Given the description of an element on the screen output the (x, y) to click on. 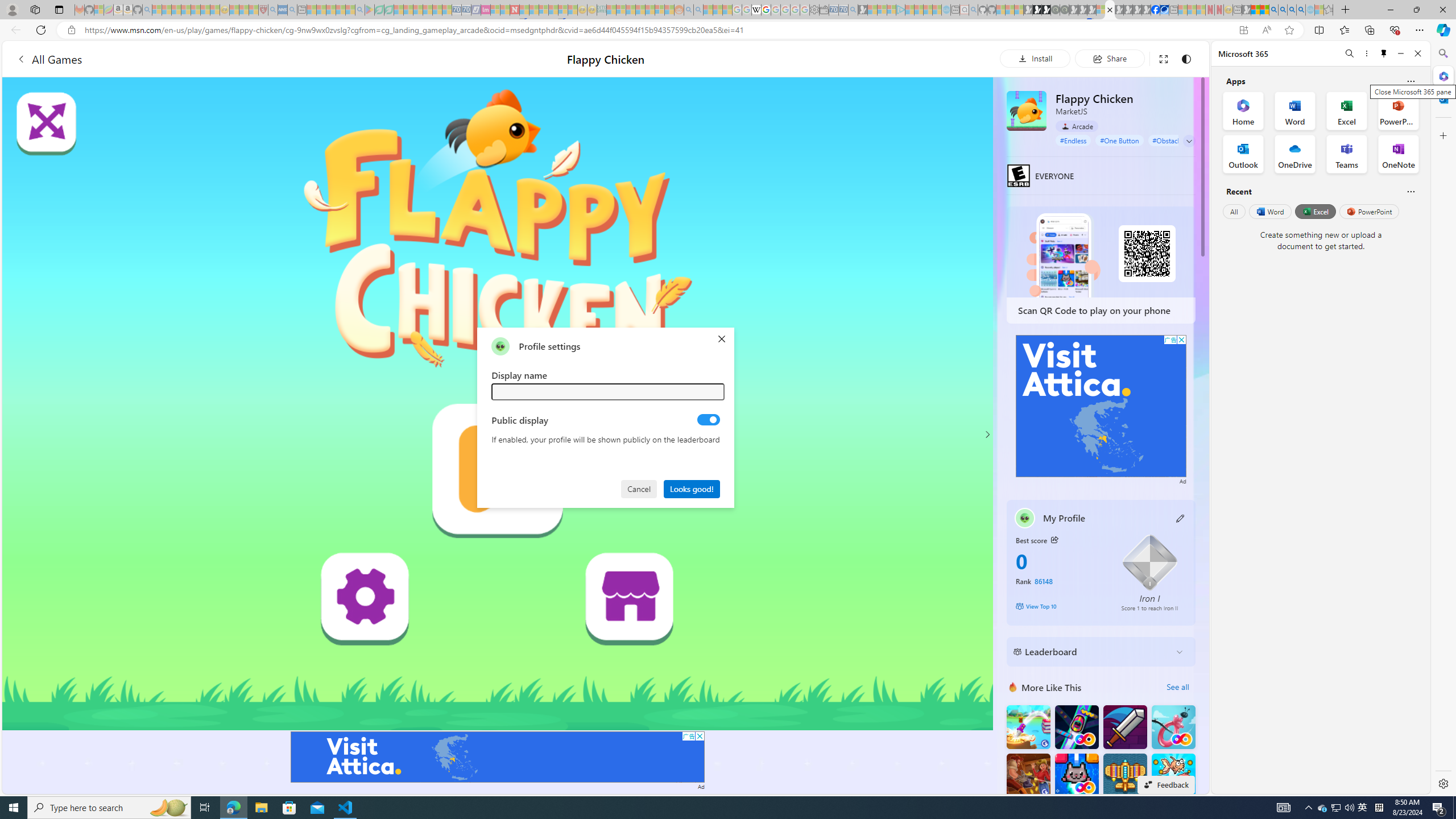
Knife Flip (1028, 726)
Bing AI - Search (1272, 9)
Full screen (1163, 58)
2009 Bing officially replaced Live Search on June 3 - Search (1283, 9)
Flappy Chicken (1026, 110)
Saloon Robbery (1028, 775)
Leaderboard (1091, 651)
